Given the description of an element on the screen output the (x, y) to click on. 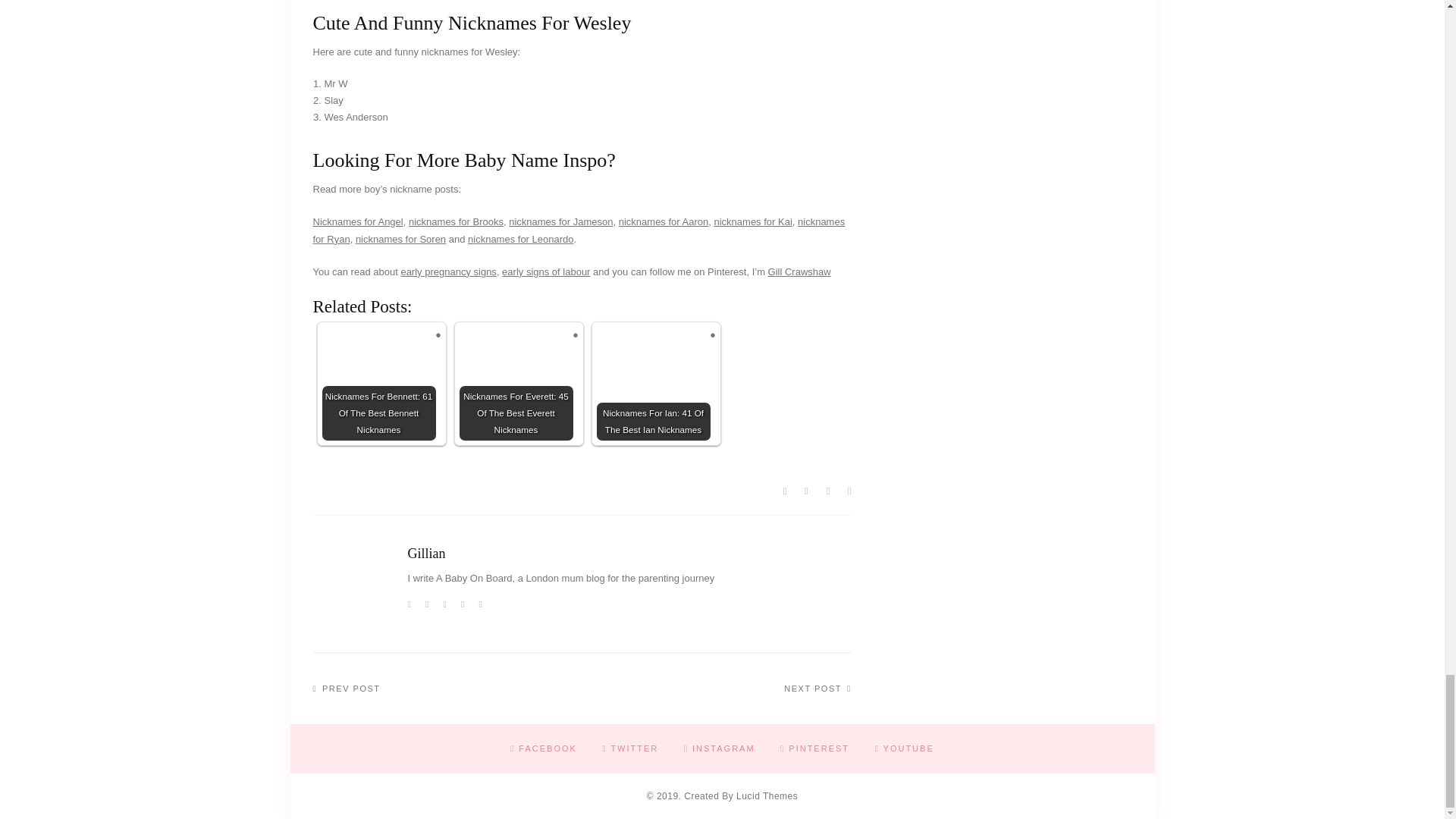
nicknames for Leonardo (520, 238)
Gill Crawshaw (799, 271)
nicknames for Kai (752, 221)
nicknames for Aaron (663, 221)
nicknames for Brooks (456, 221)
early pregnancy signs (448, 271)
nicknames for Ryan (578, 230)
Nicknames For Ian: 41 Of The Best Ian Nicknames (653, 383)
Nicknames For Bennett: 61 Of The Best Bennett Nicknames (378, 383)
PREV POST (346, 688)
Nicknames for Angel (358, 221)
Nicknames For Everett: 45 Of The Best Everett Nicknames (516, 383)
nicknames for Jameson (560, 221)
NEXT POST (817, 688)
early signs of labour (545, 271)
